Given the description of an element on the screen output the (x, y) to click on. 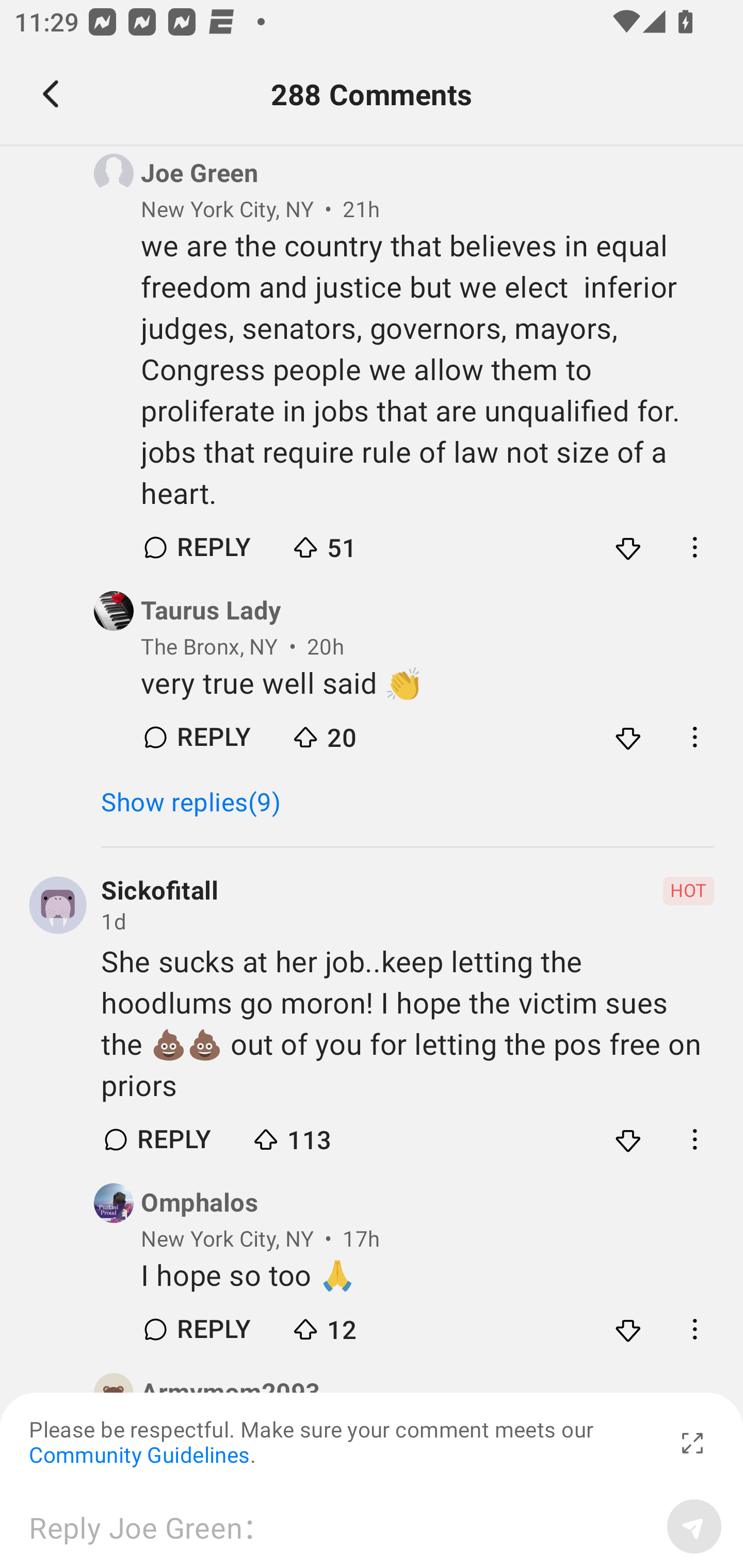
Reply Joe Green： (340, 1526)
